Given the description of an element on the screen output the (x, y) to click on. 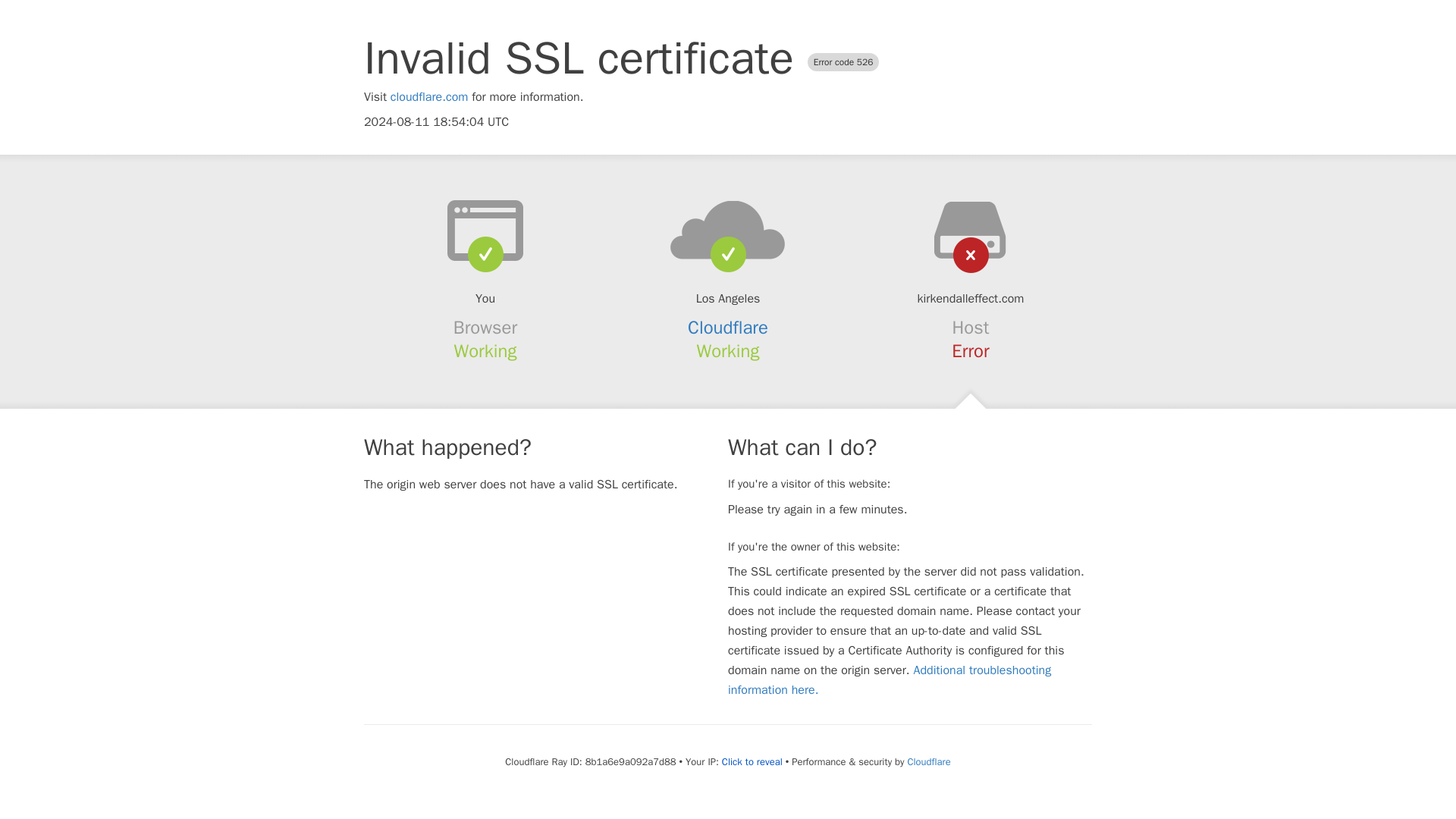
Additional troubleshooting information here. (889, 679)
Click to reveal (752, 762)
Cloudflare (928, 761)
cloudflare.com (429, 96)
Cloudflare (727, 327)
